Given the description of an element on the screen output the (x, y) to click on. 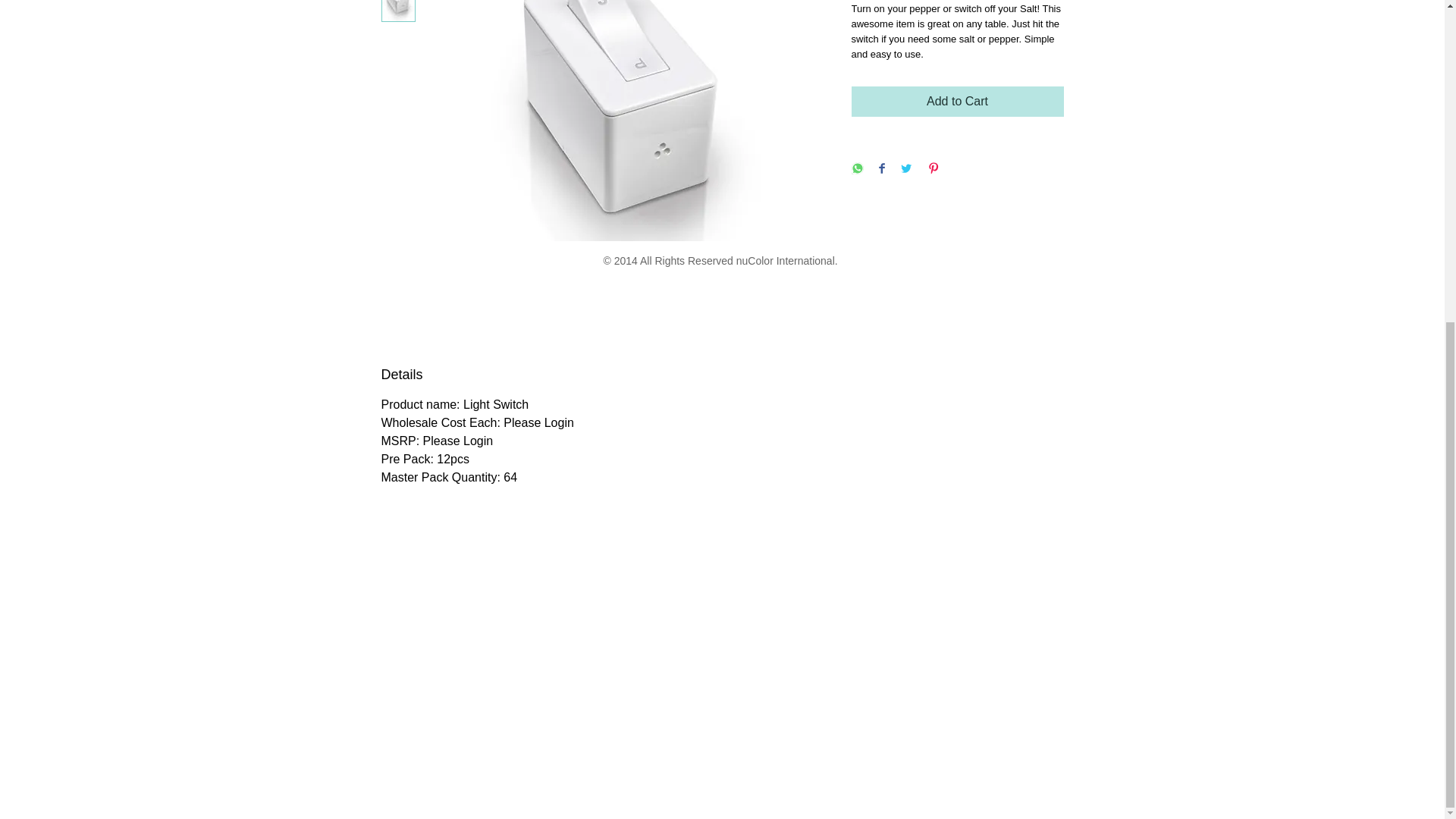
Add to Cart (956, 101)
